Given the description of an element on the screen output the (x, y) to click on. 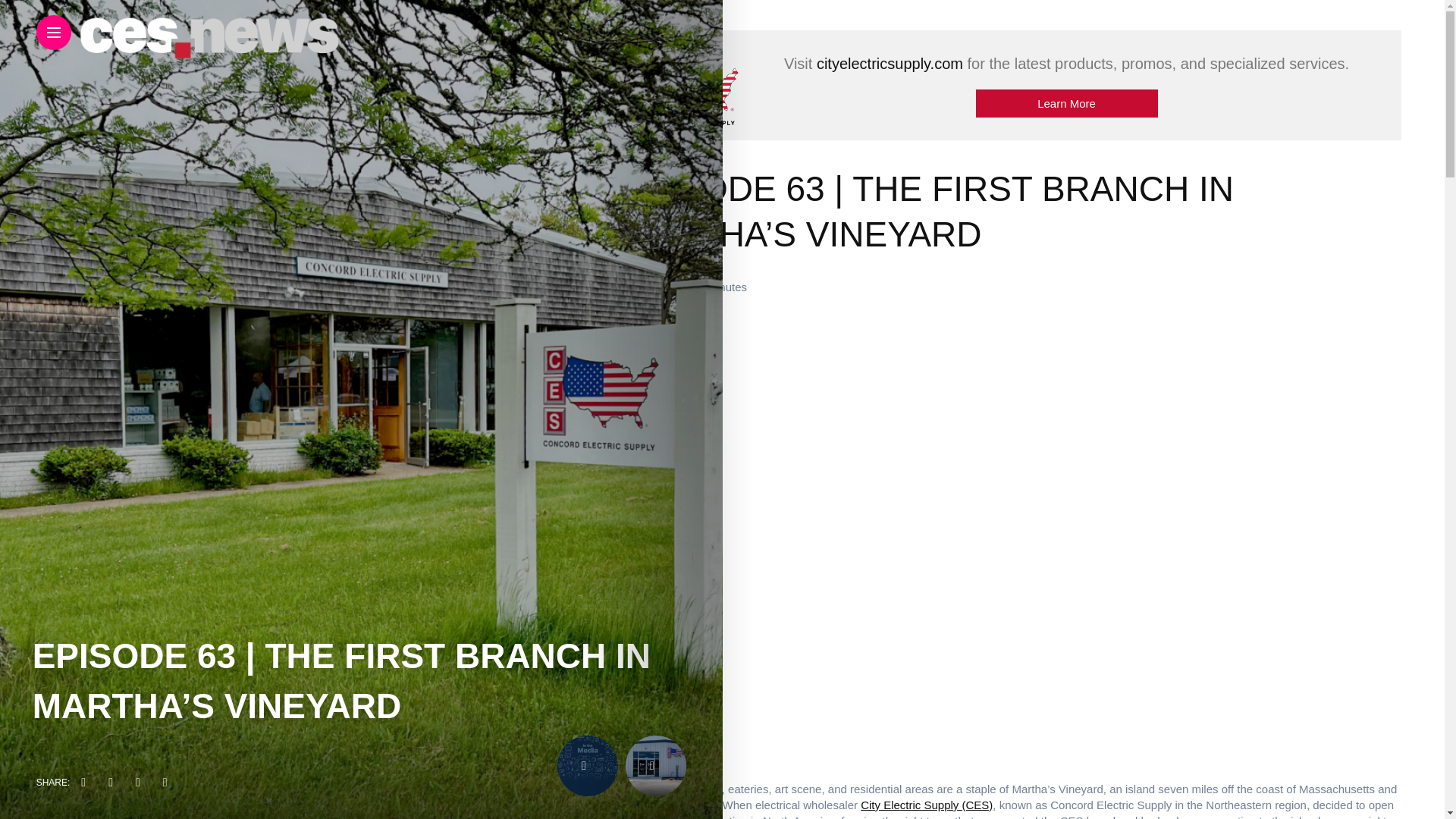
cityelectricsupply.com (889, 63)
Learn More (1066, 103)
